Given the description of an element on the screen output the (x, y) to click on. 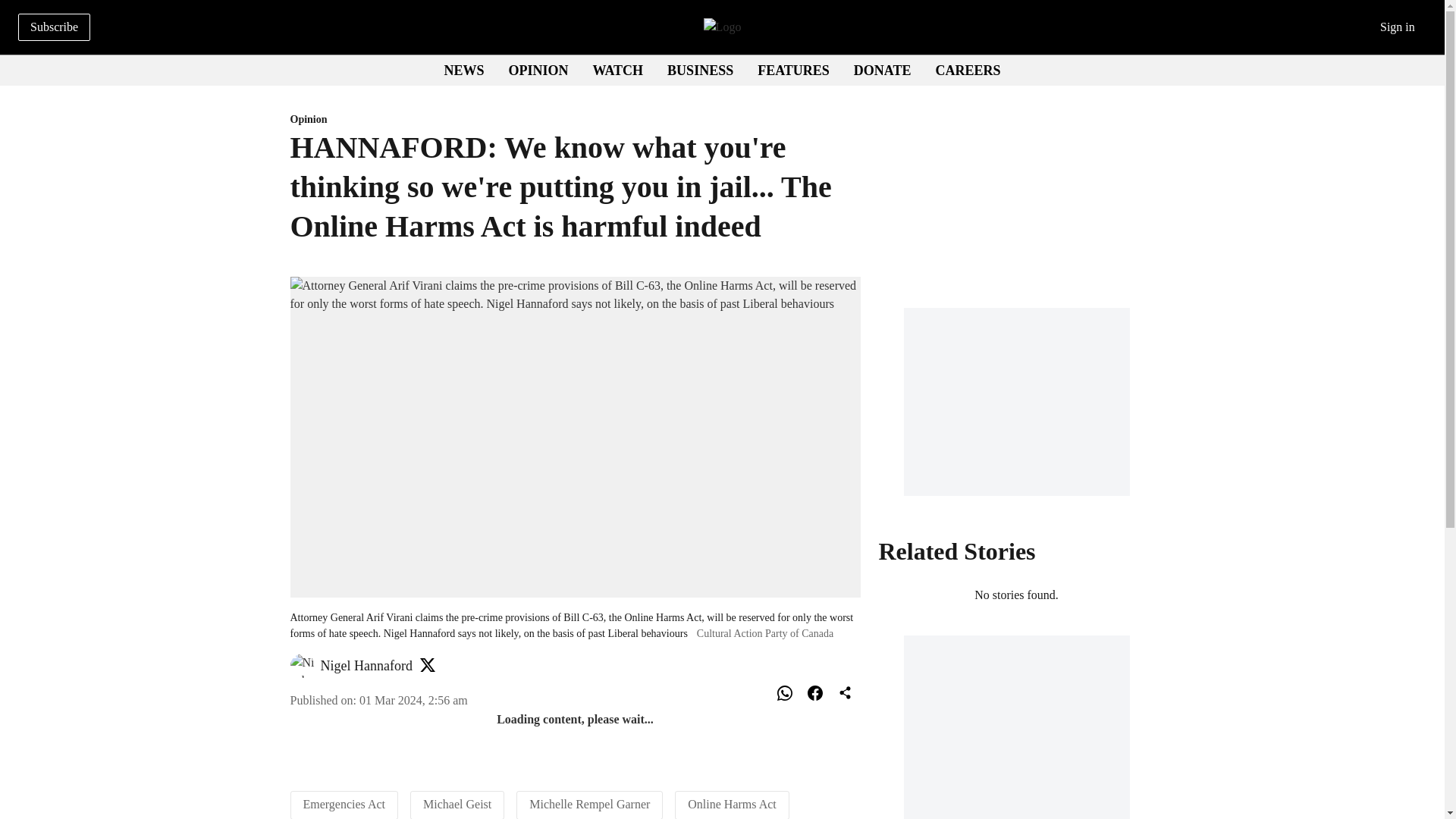
WATCH (617, 70)
FEATURES (793, 70)
Nigel Hannaford (366, 665)
BUSINESS (699, 70)
DONATE (882, 70)
CAREERS (720, 70)
Opinion (968, 70)
